Given the description of an element on the screen output the (x, y) to click on. 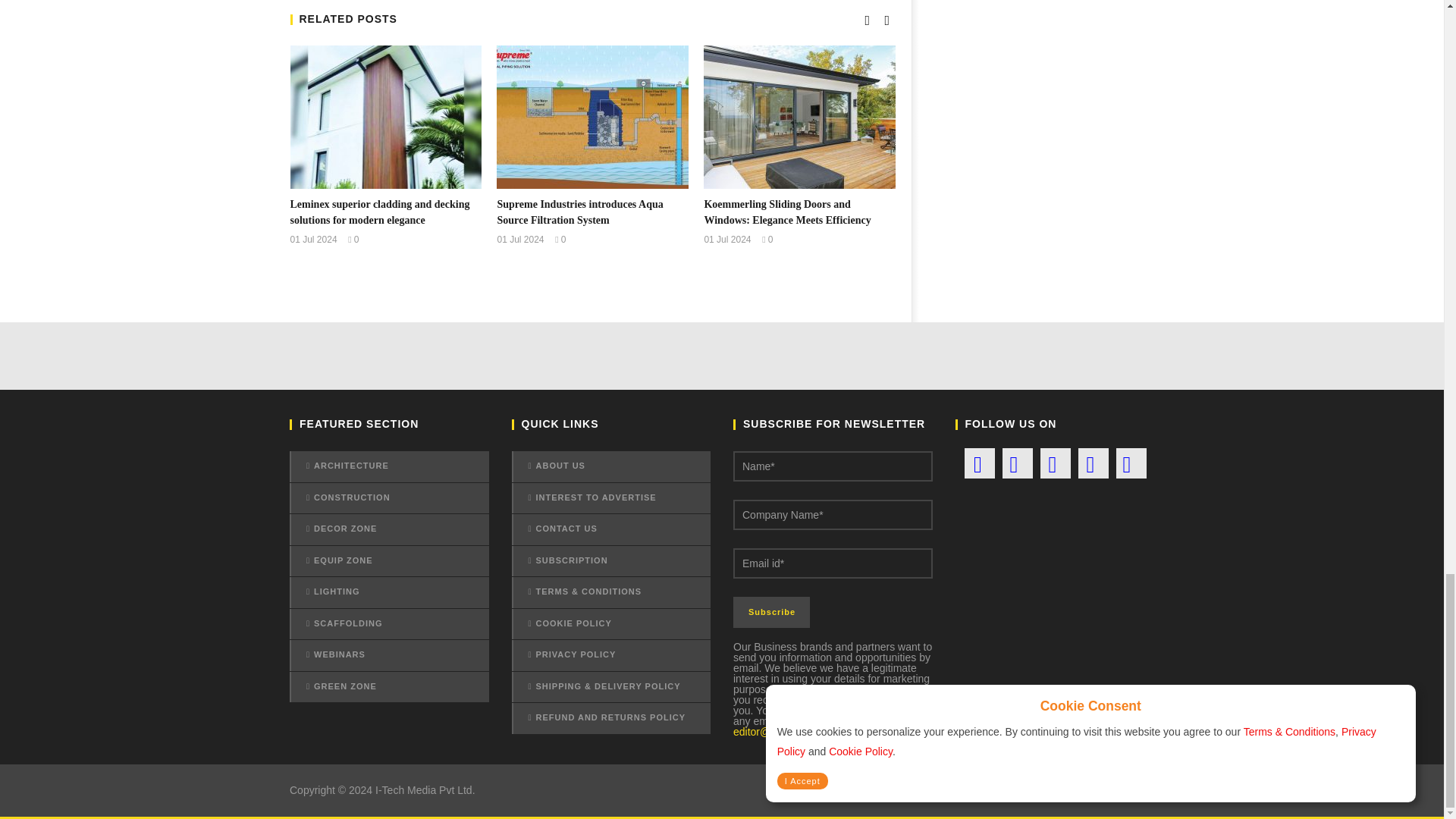
Subscribe (771, 612)
